Given the description of an element on the screen output the (x, y) to click on. 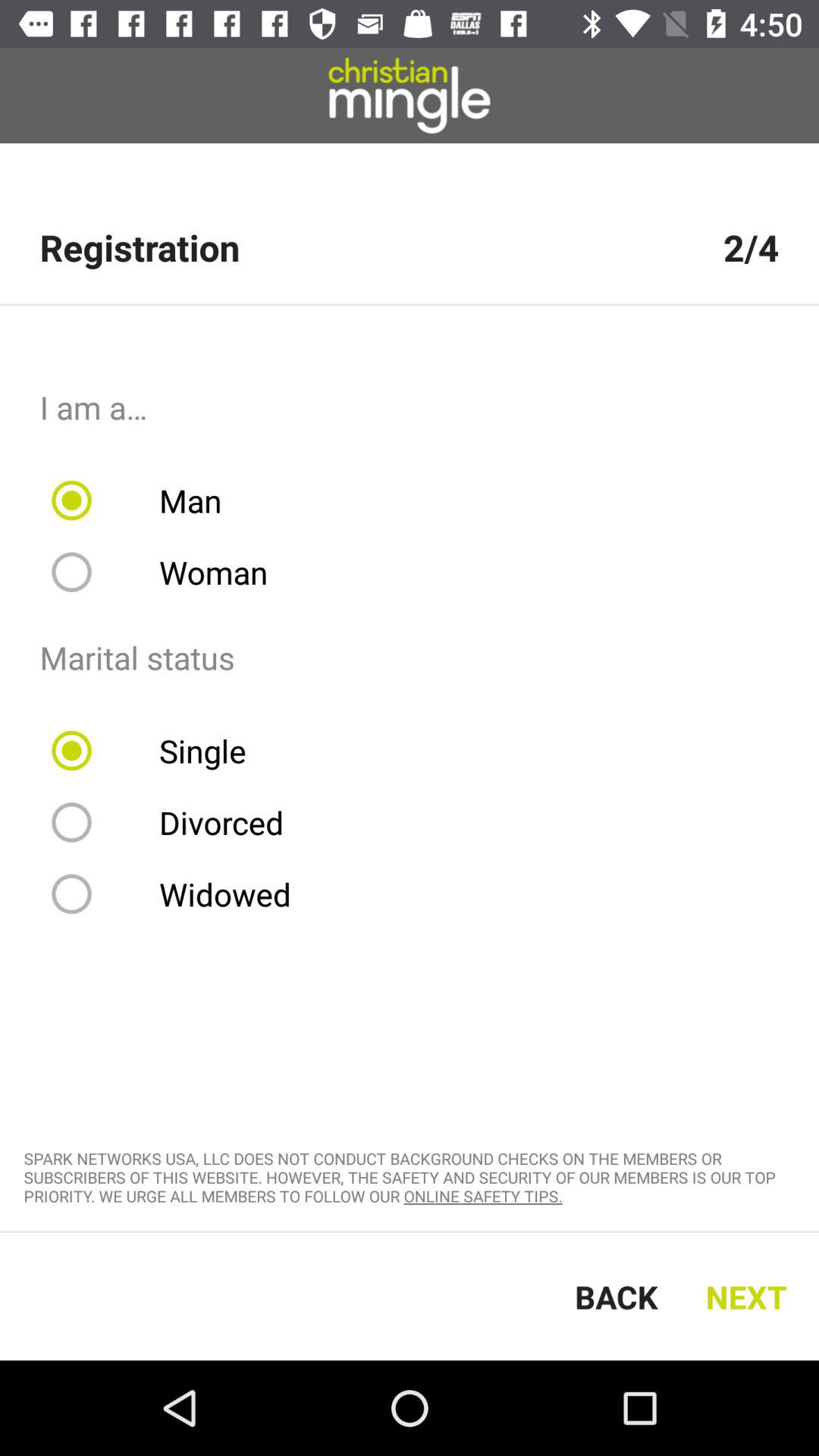
swipe to man (146, 500)
